Given the description of an element on the screen output the (x, y) to click on. 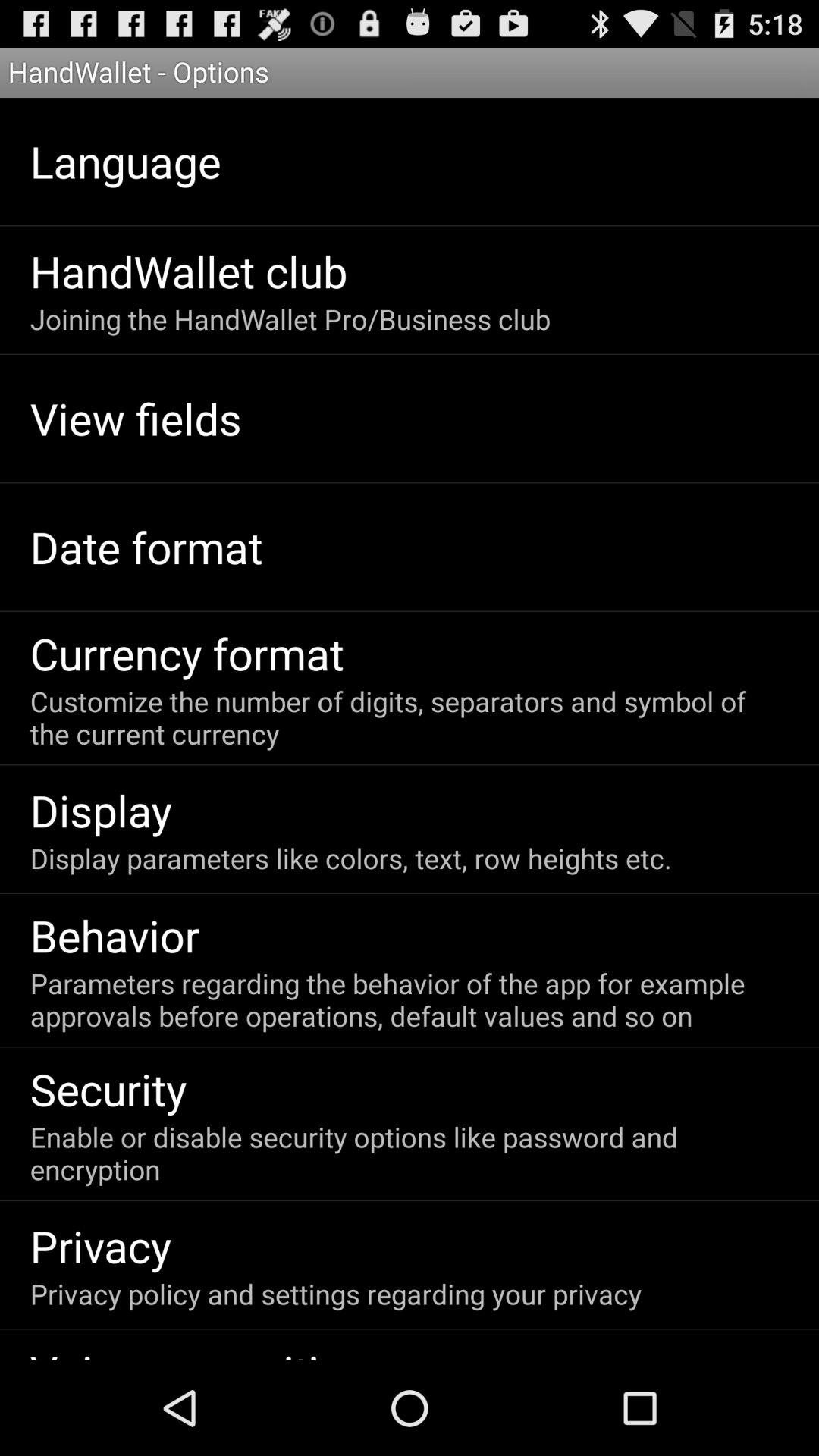
choose joining the handwallet icon (290, 318)
